Given the description of an element on the screen output the (x, y) to click on. 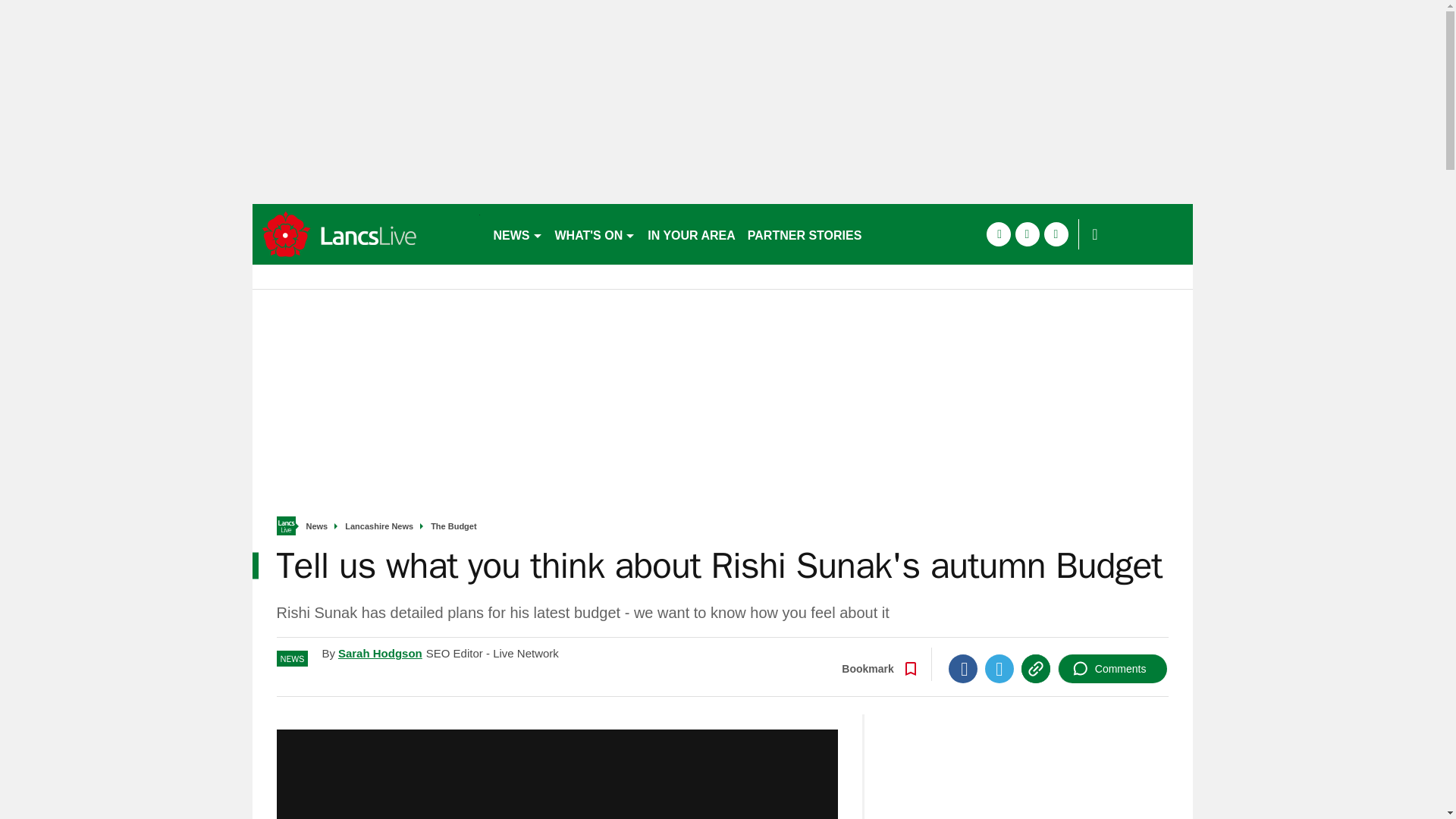
IN YOUR AREA (691, 233)
Twitter (999, 668)
instagram (1055, 233)
facebook (997, 233)
accrington (365, 233)
twitter (1026, 233)
Comments (1112, 668)
PARTNER STORIES (804, 233)
WHAT'S ON (595, 233)
Facebook (962, 668)
NEWS (517, 233)
